Given the description of an element on the screen output the (x, y) to click on. 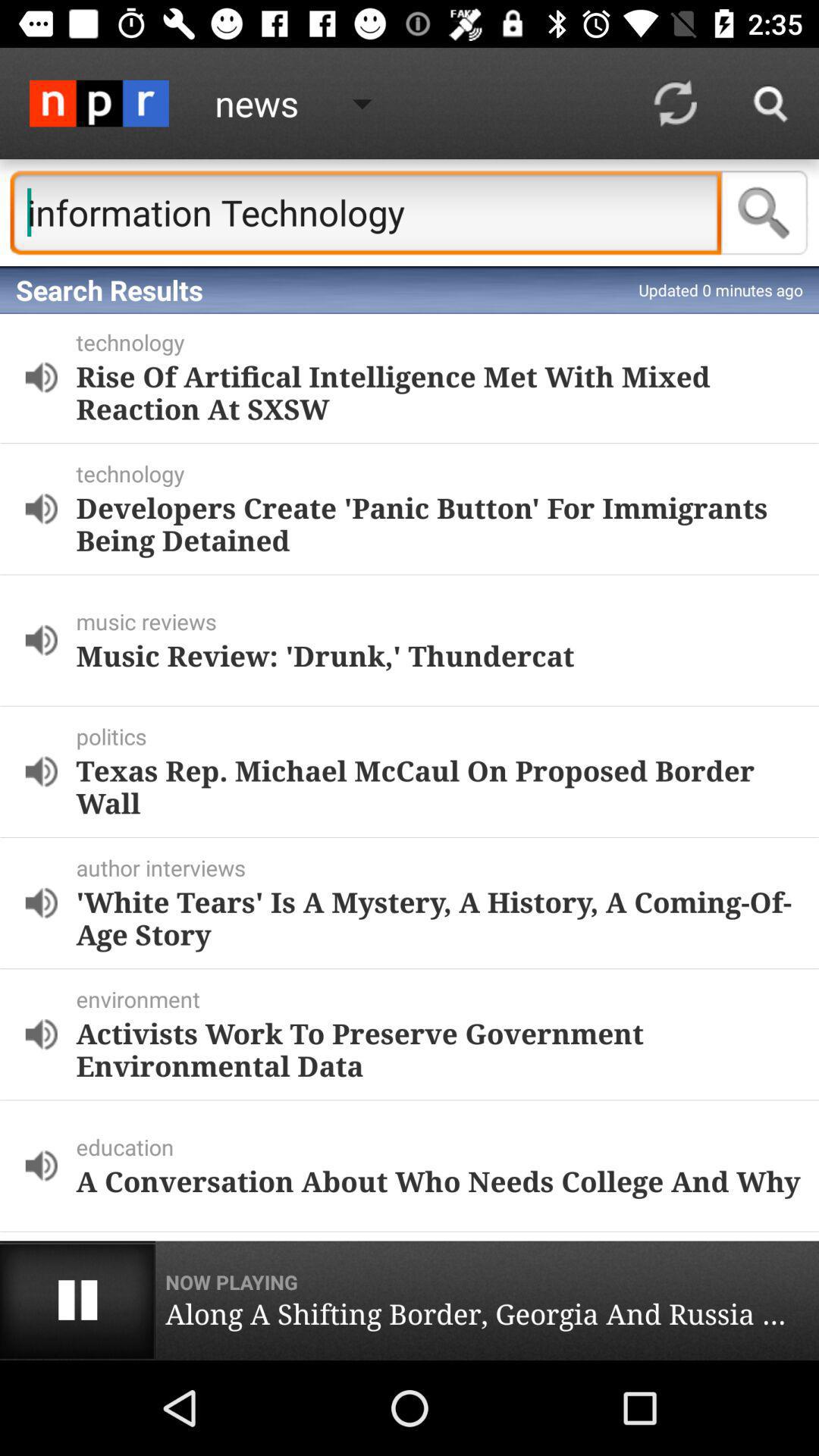
scroll until the music review drunk (438, 655)
